Given the description of an element on the screen output the (x, y) to click on. 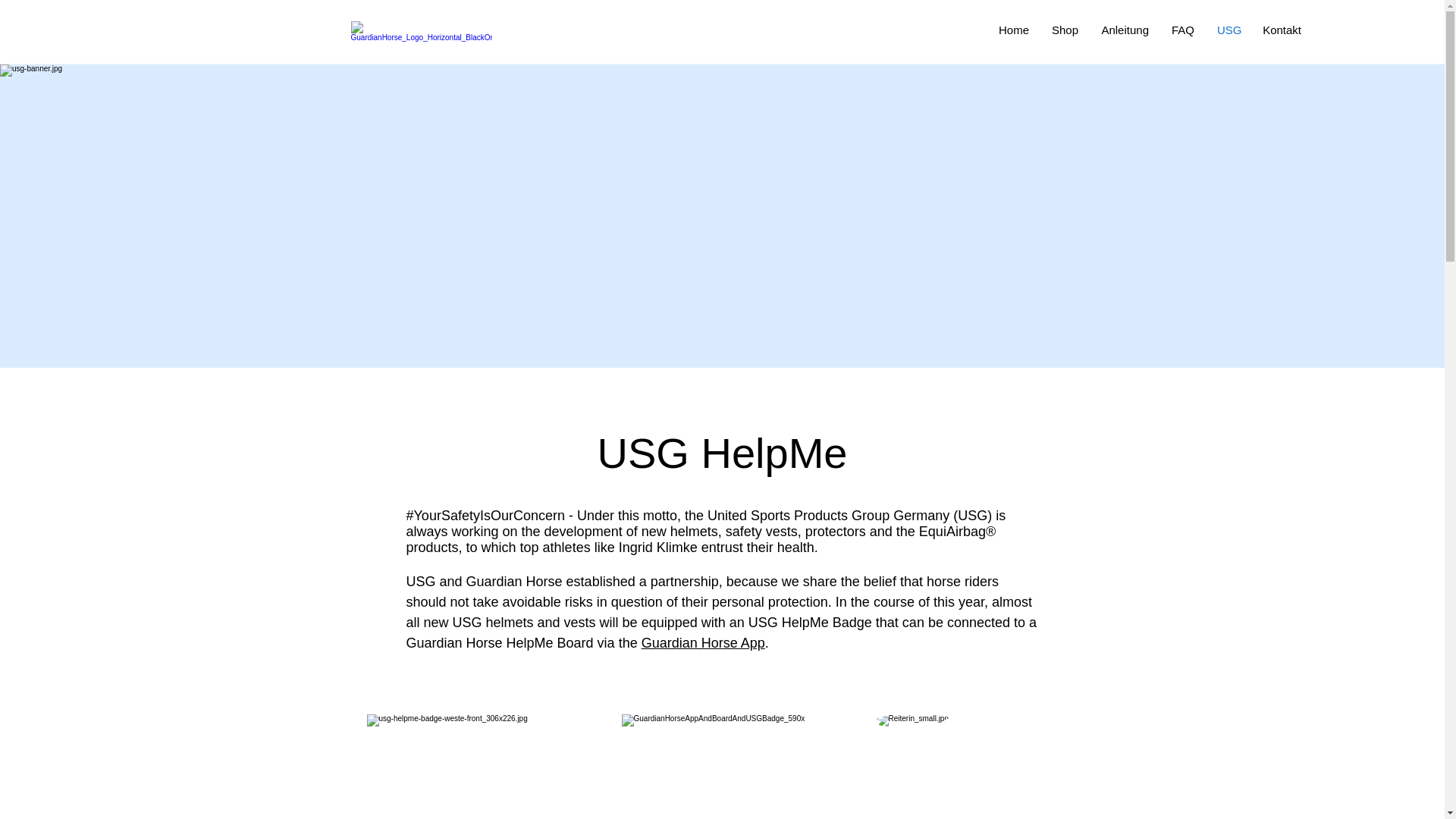
USG (1227, 29)
Kontakt (1281, 29)
Home (1014, 29)
Guardian Horse App (703, 642)
FAQ (1182, 29)
Anleitung (1124, 29)
Shop (1065, 29)
